Given the description of an element on the screen output the (x, y) to click on. 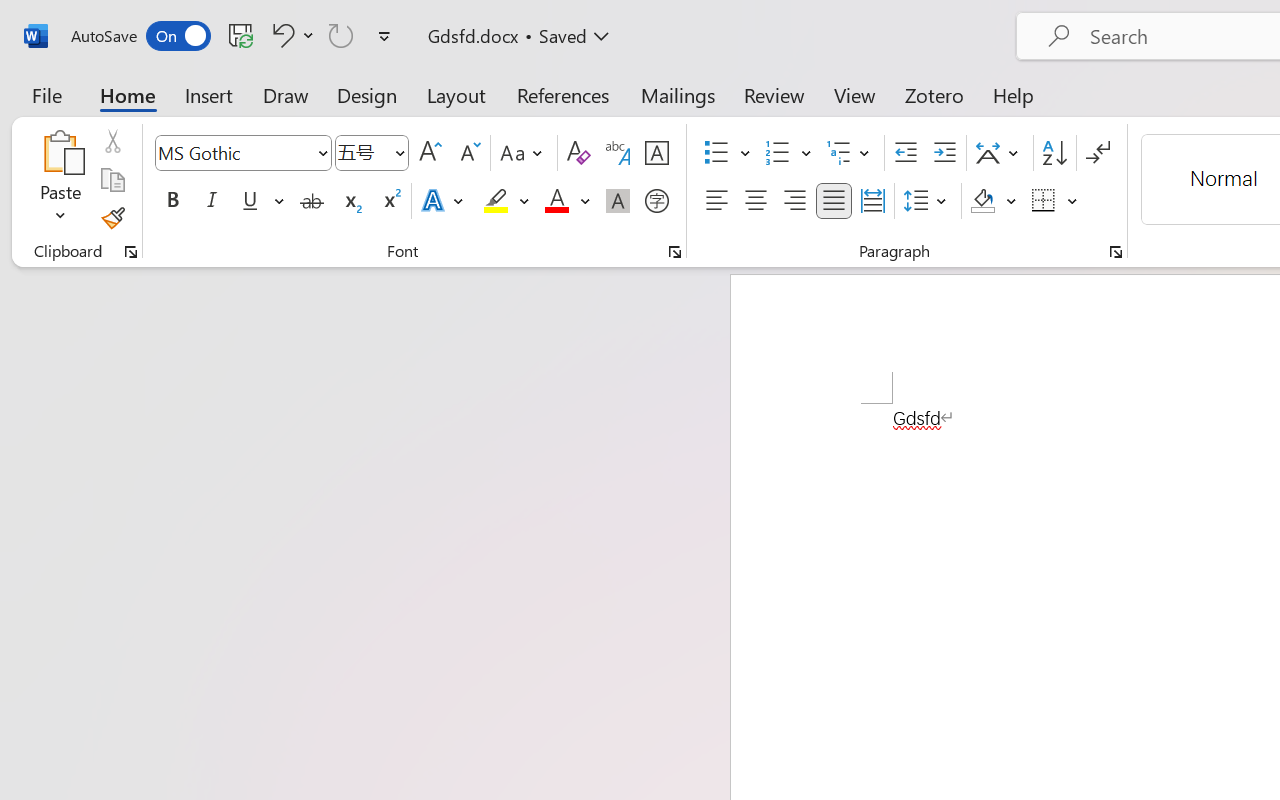
Undo Font Formatting (290, 35)
